Given the description of an element on the screen output the (x, y) to click on. 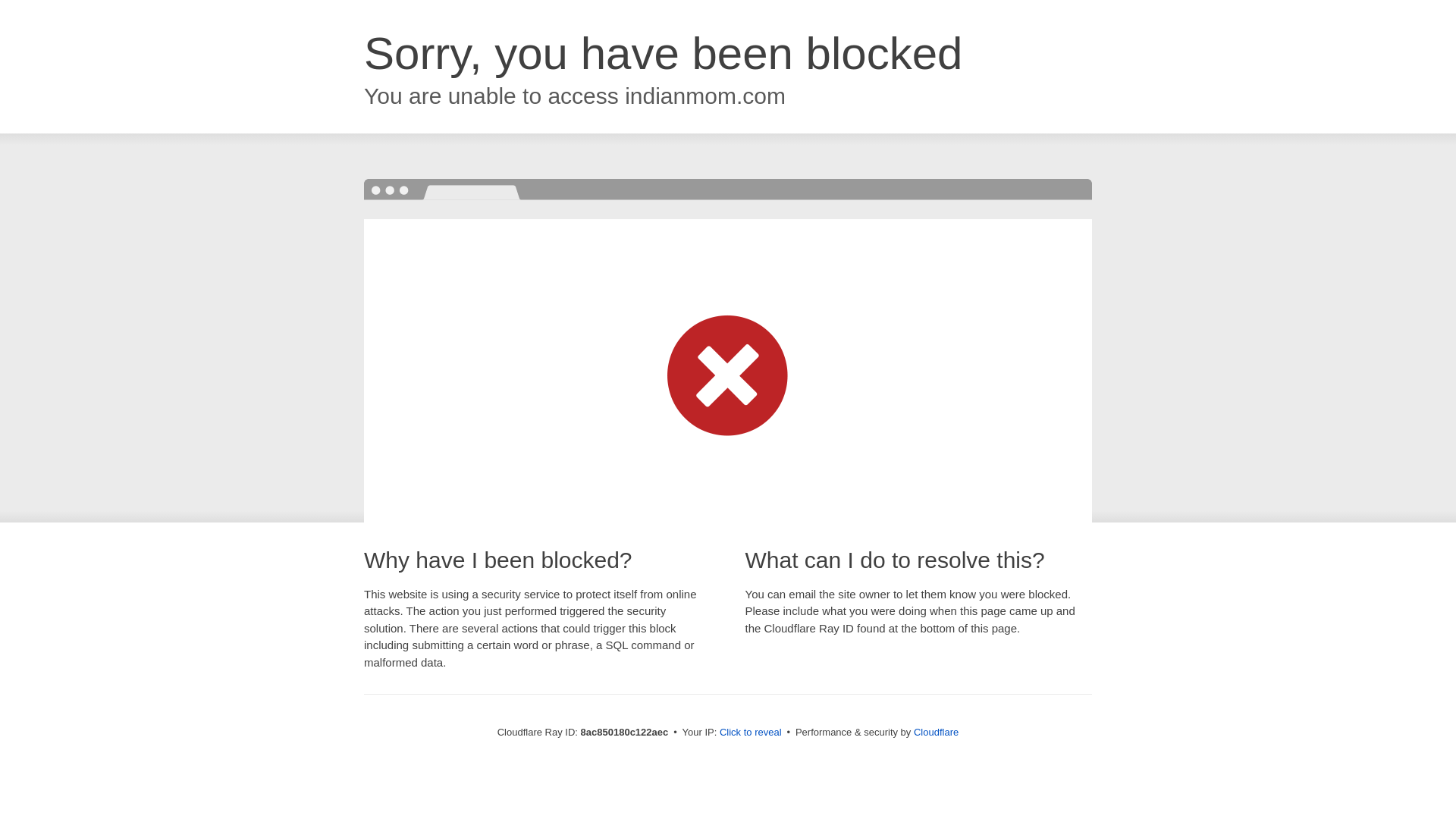
Cloudflare (936, 731)
Click to reveal (750, 732)
